Given the description of an element on the screen output the (x, y) to click on. 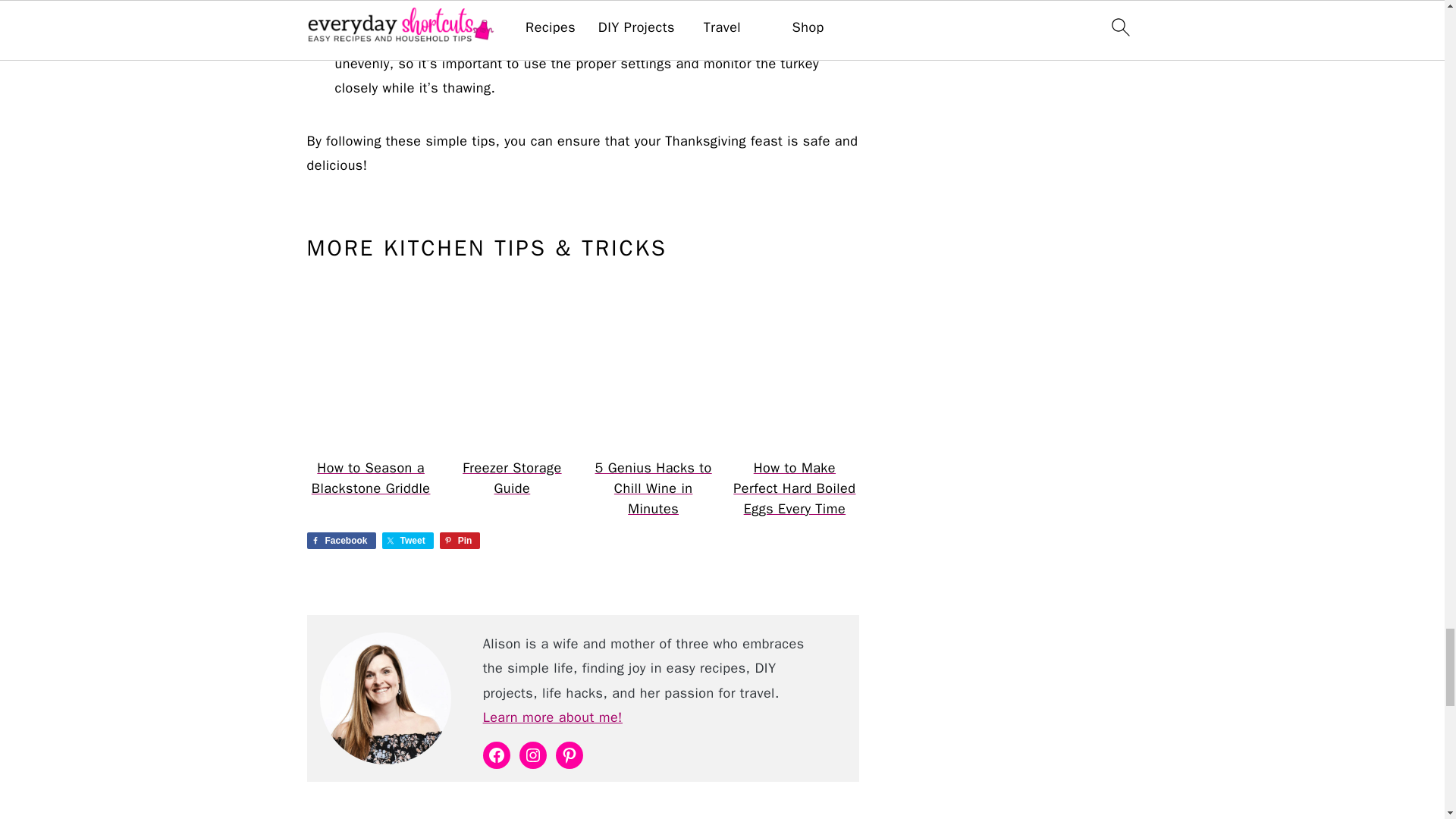
Share on Facebook (340, 540)
Share on Twitter (407, 540)
Share on Pinterest (459, 540)
